Given the description of an element on the screen output the (x, y) to click on. 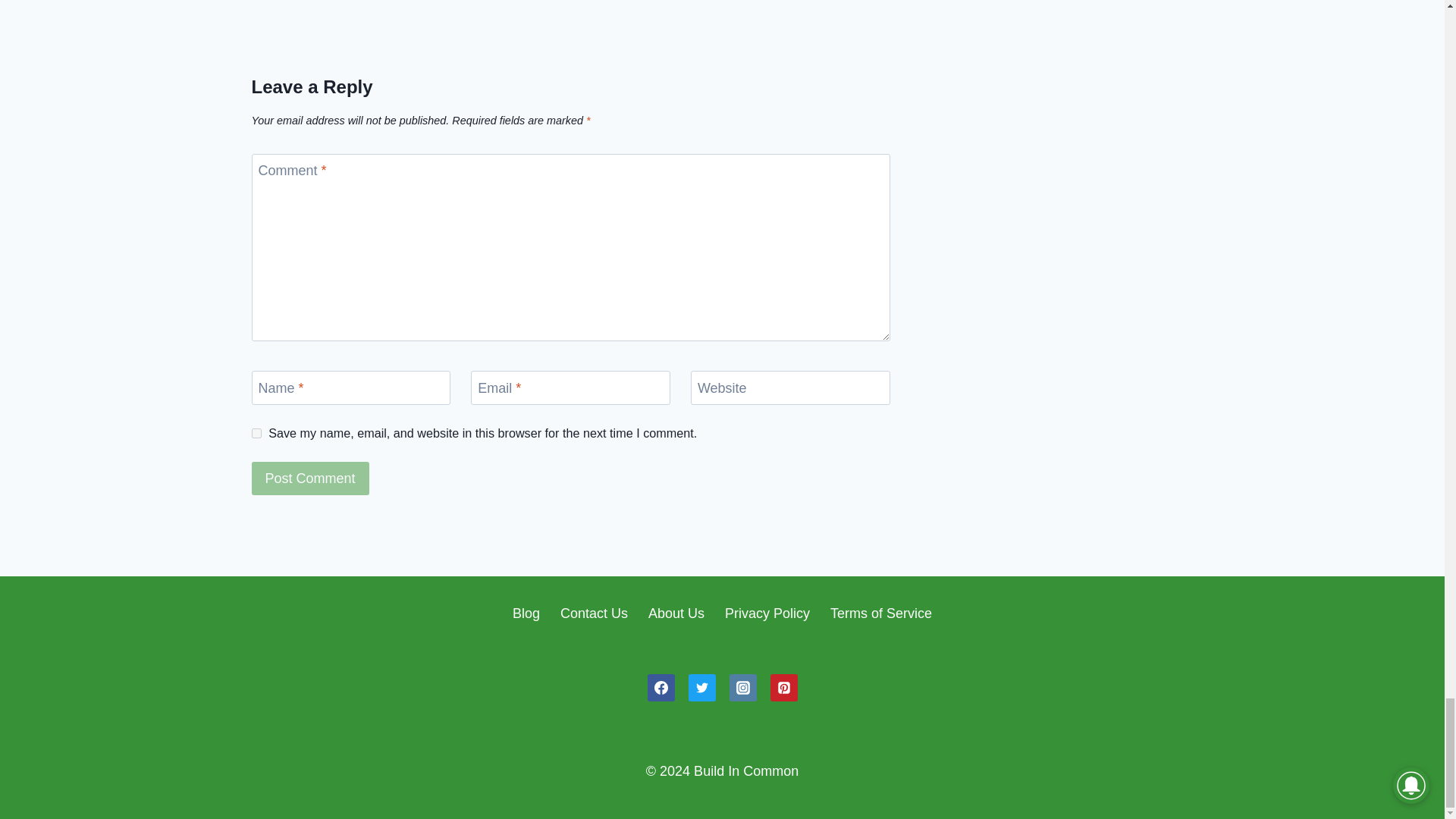
Post Comment (310, 477)
yes (256, 433)
